Given the description of an element on the screen output the (x, y) to click on. 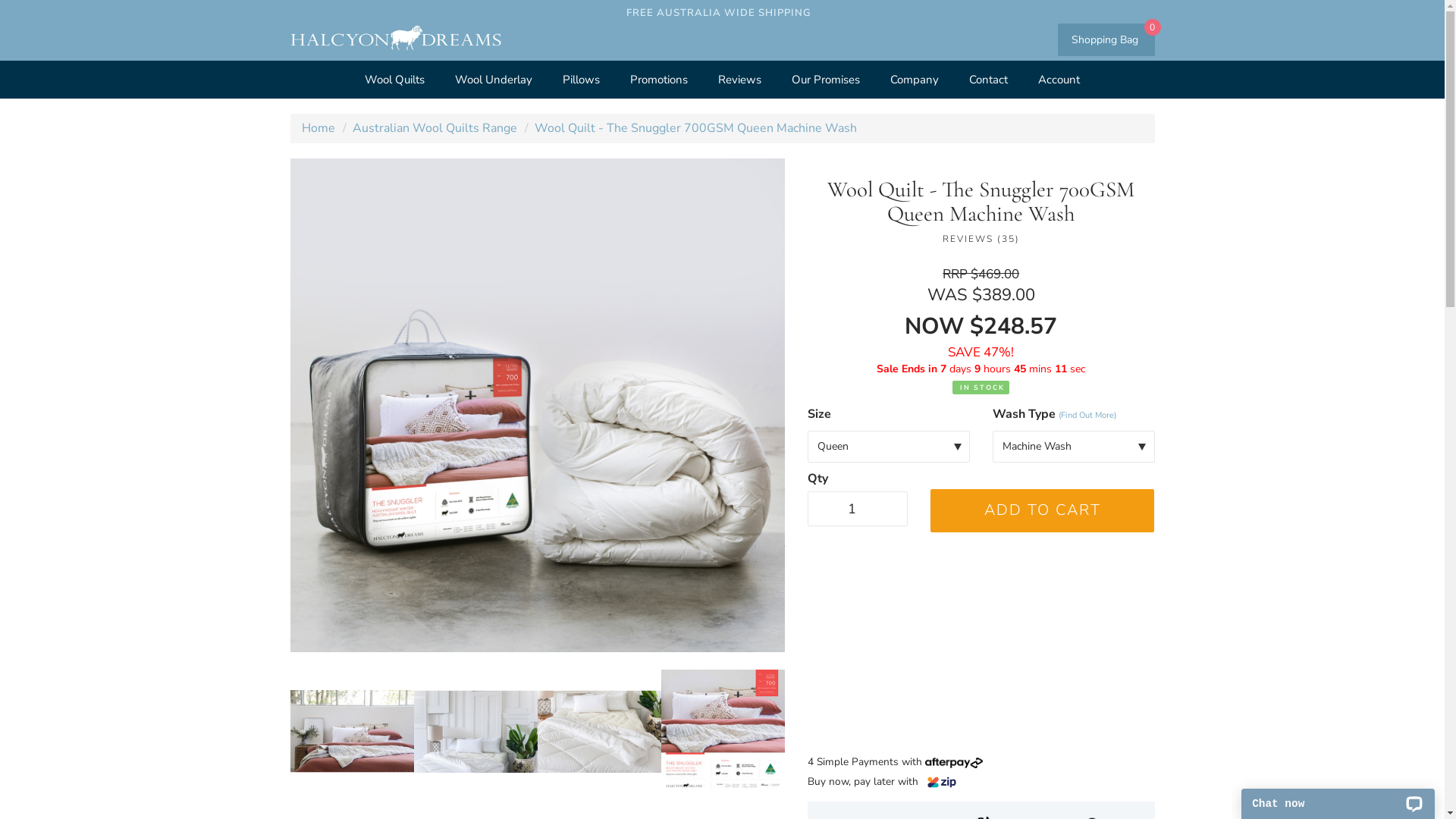
Wool Quilts Element type: text (394, 79)
Promotions Element type: text (658, 79)
Contact Element type: text (987, 79)
Large View Element type: hover (351, 731)
Australian Wool Quilts Range Element type: text (433, 127)
Large View Element type: hover (599, 731)
Large View Element type: hover (722, 731)
ADD TO CART Element type: text (1042, 510)
Halcyon Dreams Element type: hover (394, 39)
Pillows Element type: text (581, 79)
Large View Element type: hover (475, 731)
Home Element type: text (318, 127)
Our Promises Element type: text (825, 79)
REVIEWS (35) Element type: text (980, 238)
Reviews Element type: text (739, 79)
Shopping Bag
0 Element type: text (1105, 39)
(Find Out More) Element type: text (1087, 414)
Wool Quilt - The Snuggler 700GSM Queen Machine Wash Element type: text (694, 127)
Account Element type: text (1058, 79)
Wool Underlay Element type: text (493, 79)
Company Element type: text (914, 79)
